Given the description of an element on the screen output the (x, y) to click on. 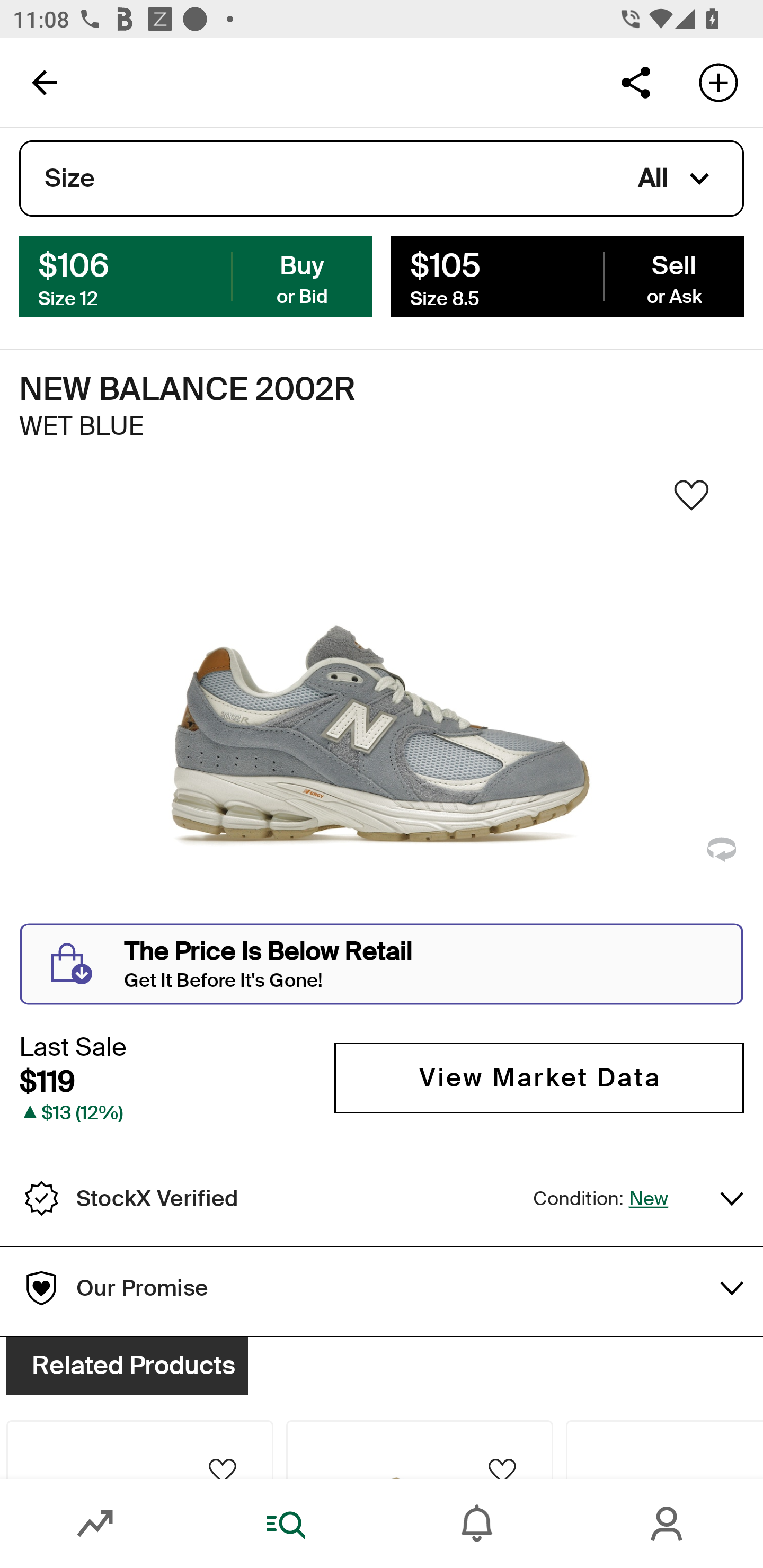
Share (635, 81)
Size All (381, 178)
$106 Buy Size 12 or Bid (195, 275)
$105 Sell Size 8.5 or Ask (566, 275)
Sneaker Image (381, 699)
View Market Data (538, 1077)
Market (95, 1523)
Inbox (476, 1523)
Account (667, 1523)
